Given the description of an element on the screen output the (x, y) to click on. 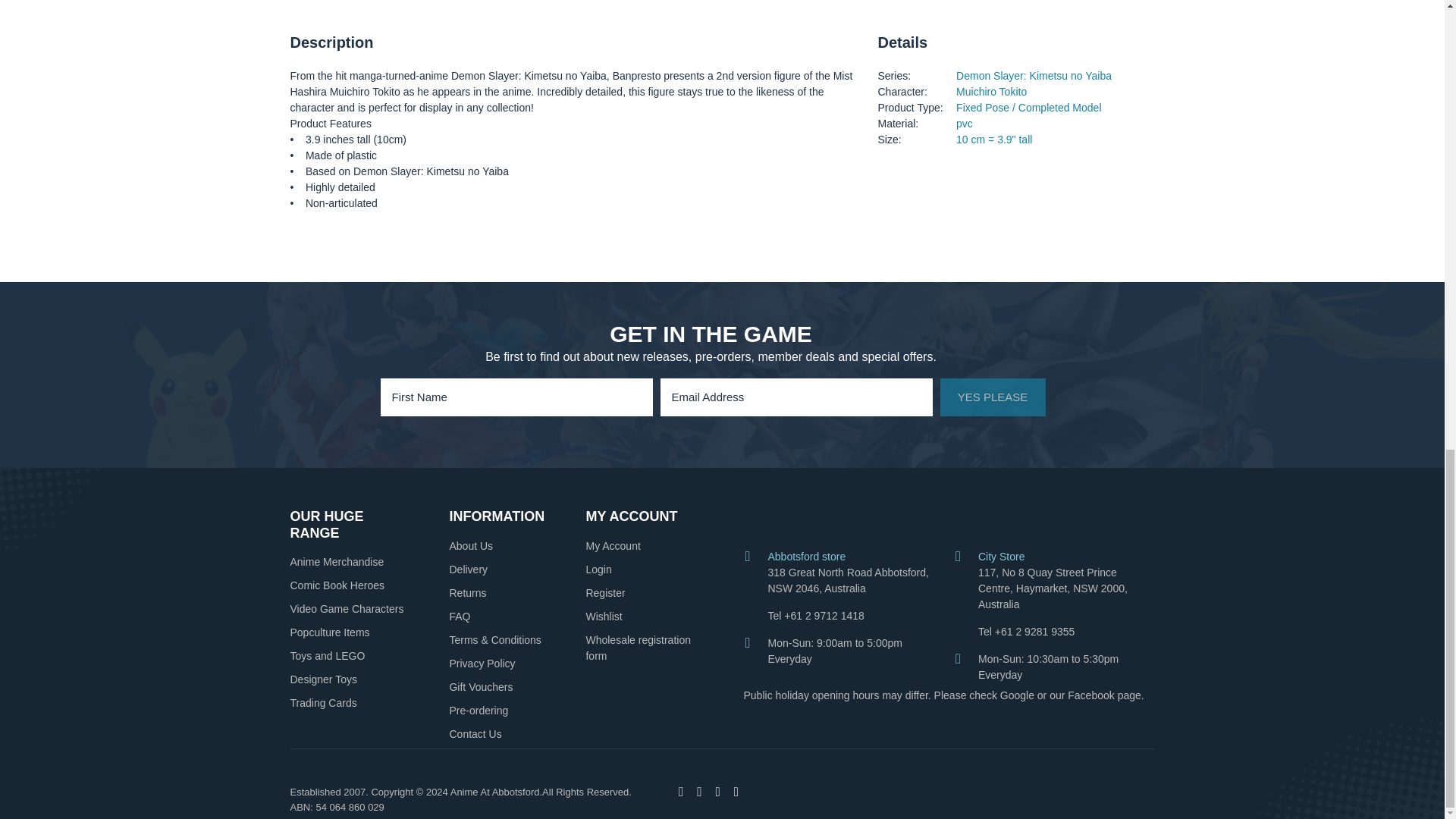
YES PLEASE (992, 397)
